Given the description of an element on the screen output the (x, y) to click on. 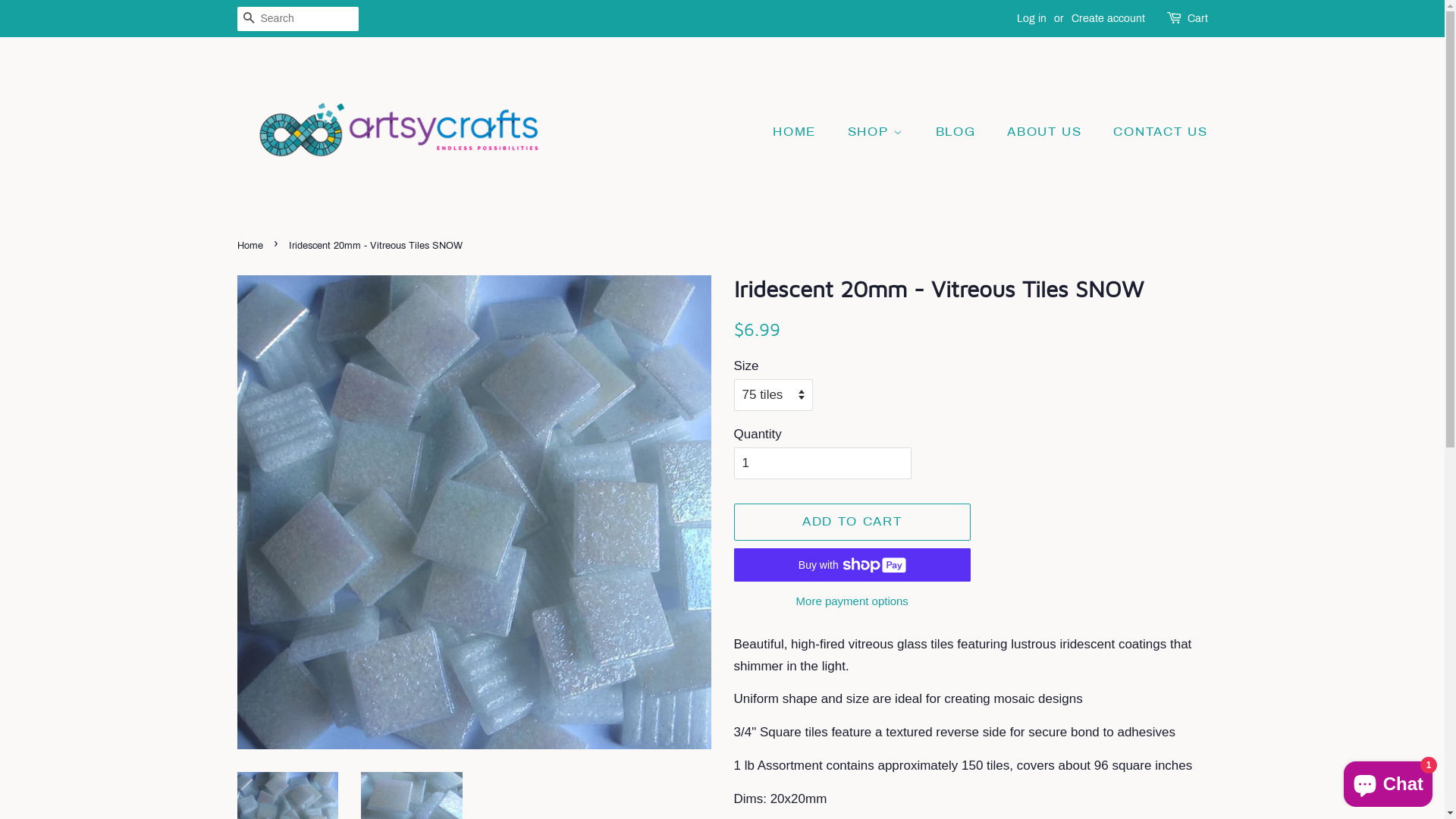
Shopify online store chat Element type: hover (1388, 780)
More payment options Element type: text (852, 600)
SEARCH Element type: text (248, 18)
Create account Element type: text (1107, 18)
HOME Element type: text (801, 132)
SHOP Element type: text (877, 132)
Cart Element type: text (1197, 18)
BLOG Element type: text (957, 132)
Home Element type: text (251, 245)
CONTACT US Element type: text (1154, 132)
ABOUT US Element type: text (1046, 132)
Log in Element type: text (1030, 18)
ADD TO CART Element type: text (852, 521)
